Given the description of an element on the screen output the (x, y) to click on. 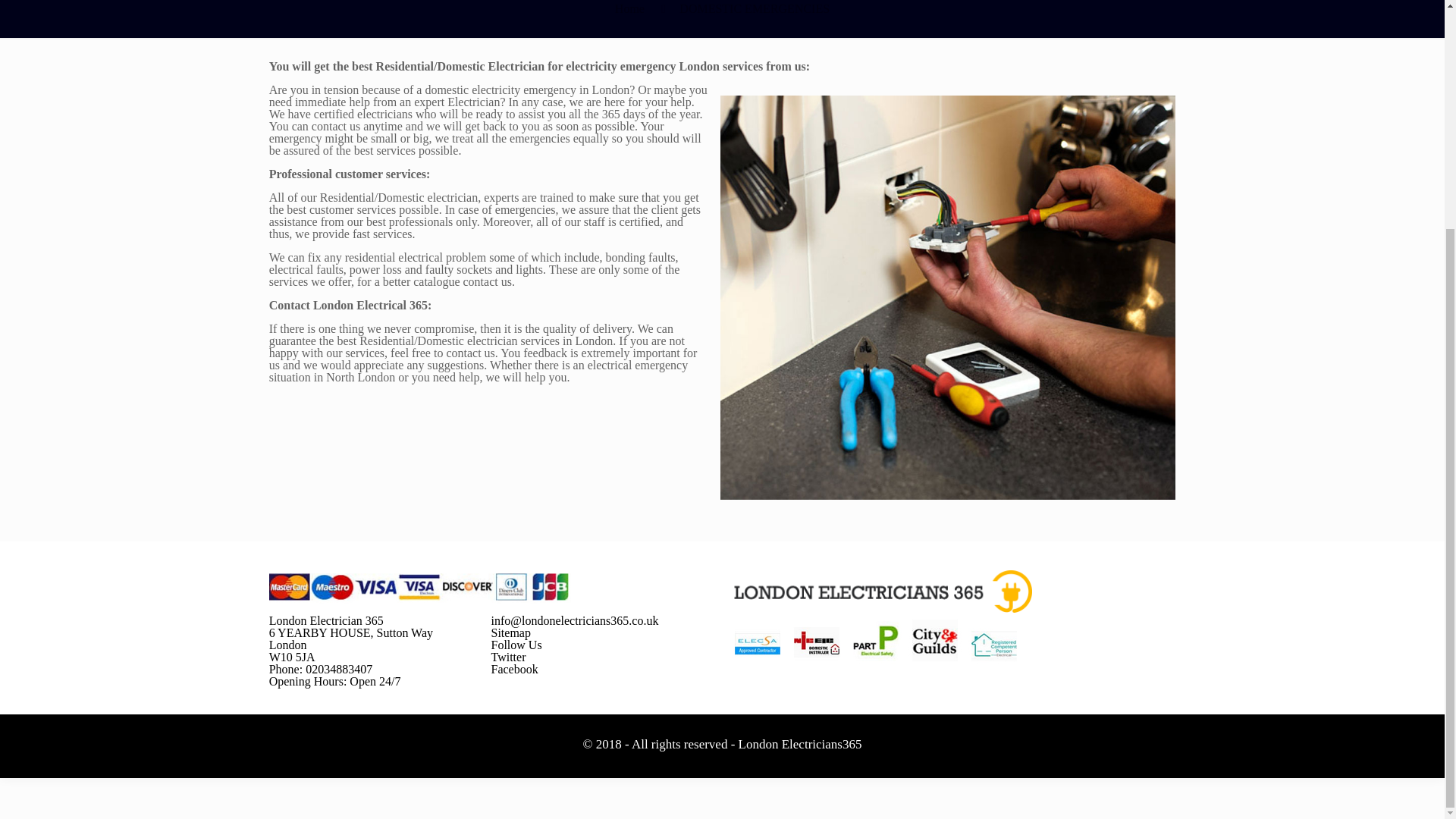
Home (629, 8)
